Given the description of an element on the screen output the (x, y) to click on. 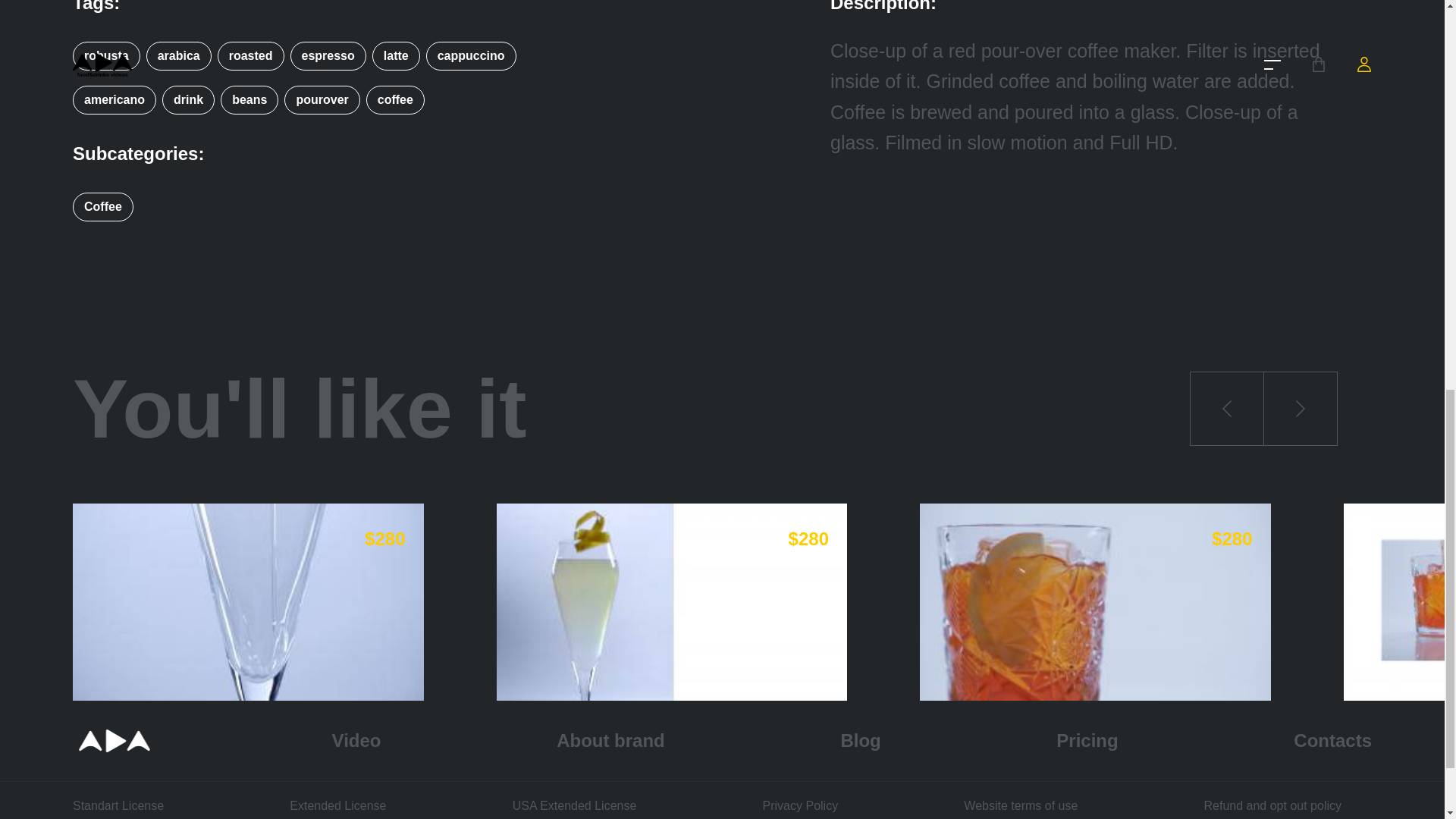
espresso (328, 55)
robusta (106, 55)
cappuccino (470, 55)
drink (188, 99)
americano (114, 99)
roasted (250, 55)
Coffee (103, 206)
latte (395, 55)
coffee (394, 99)
beans (249, 99)
